Given the description of an element on the screen output the (x, y) to click on. 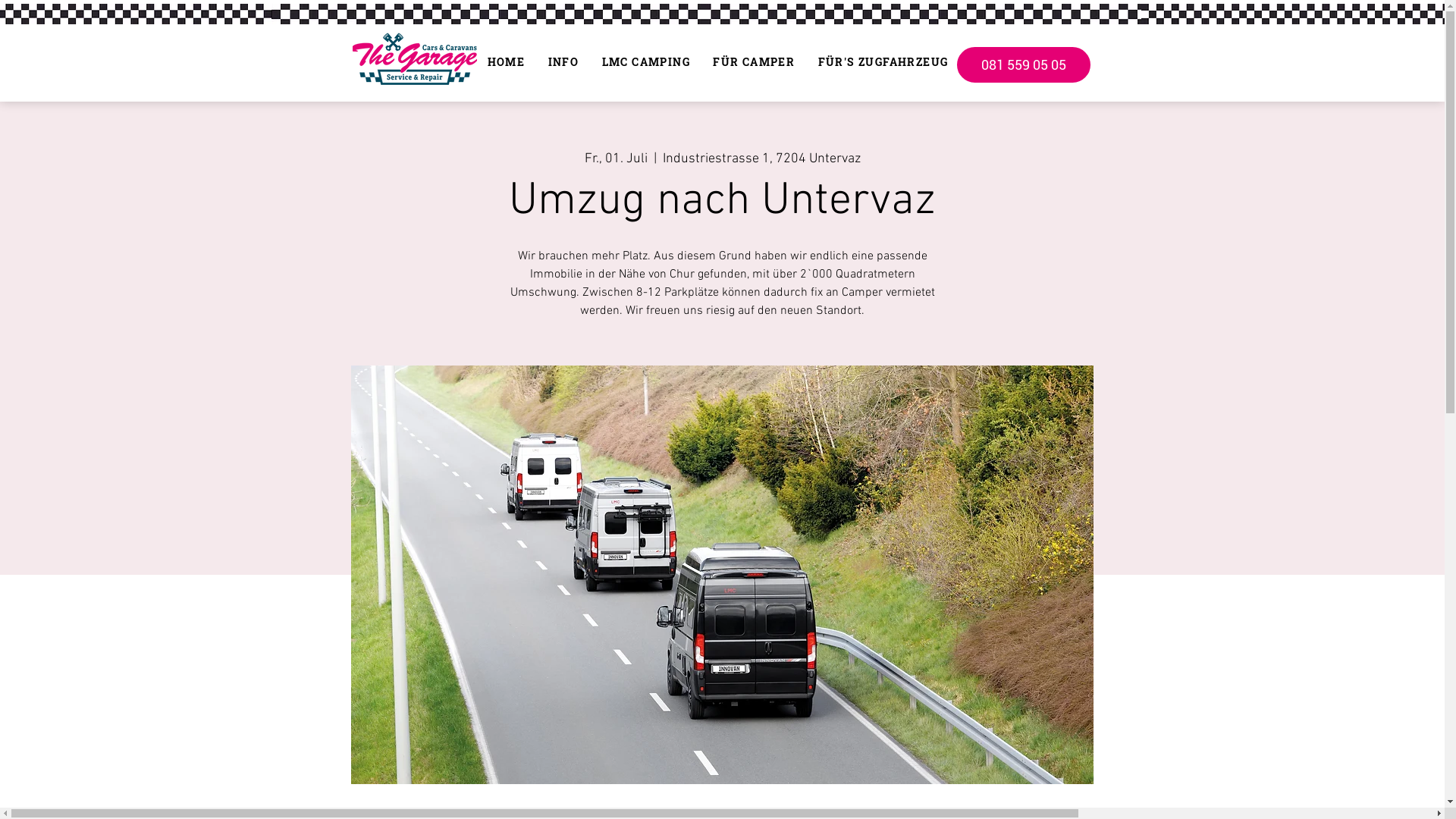
081 559 05 05 Element type: text (1023, 64)
HOME Element type: text (506, 62)
INFO Element type: text (562, 62)
LMC CAMPING Element type: text (645, 62)
